Given the description of an element on the screen output the (x, y) to click on. 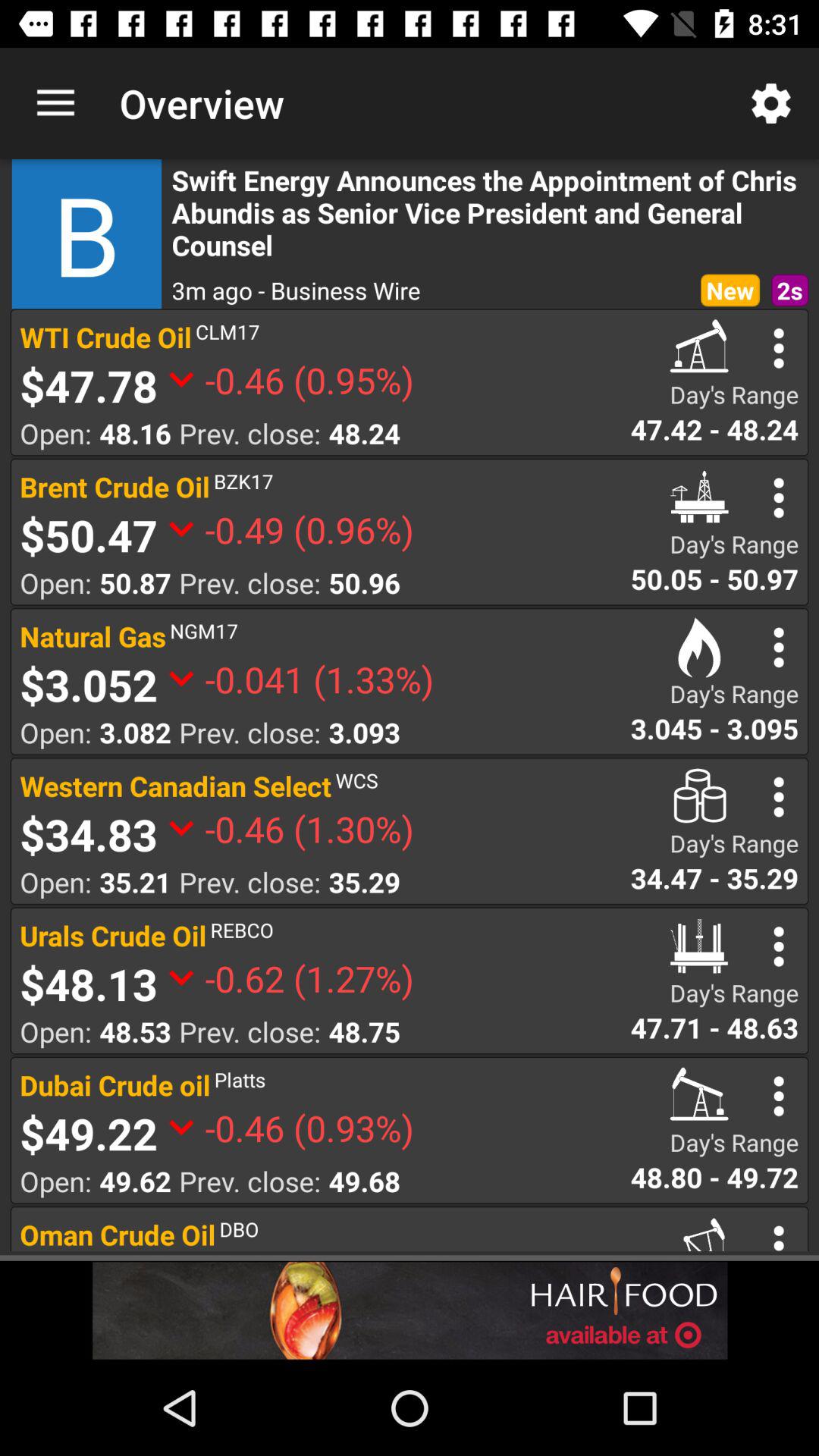
open more settings (778, 1096)
